Given the description of an element on the screen output the (x, y) to click on. 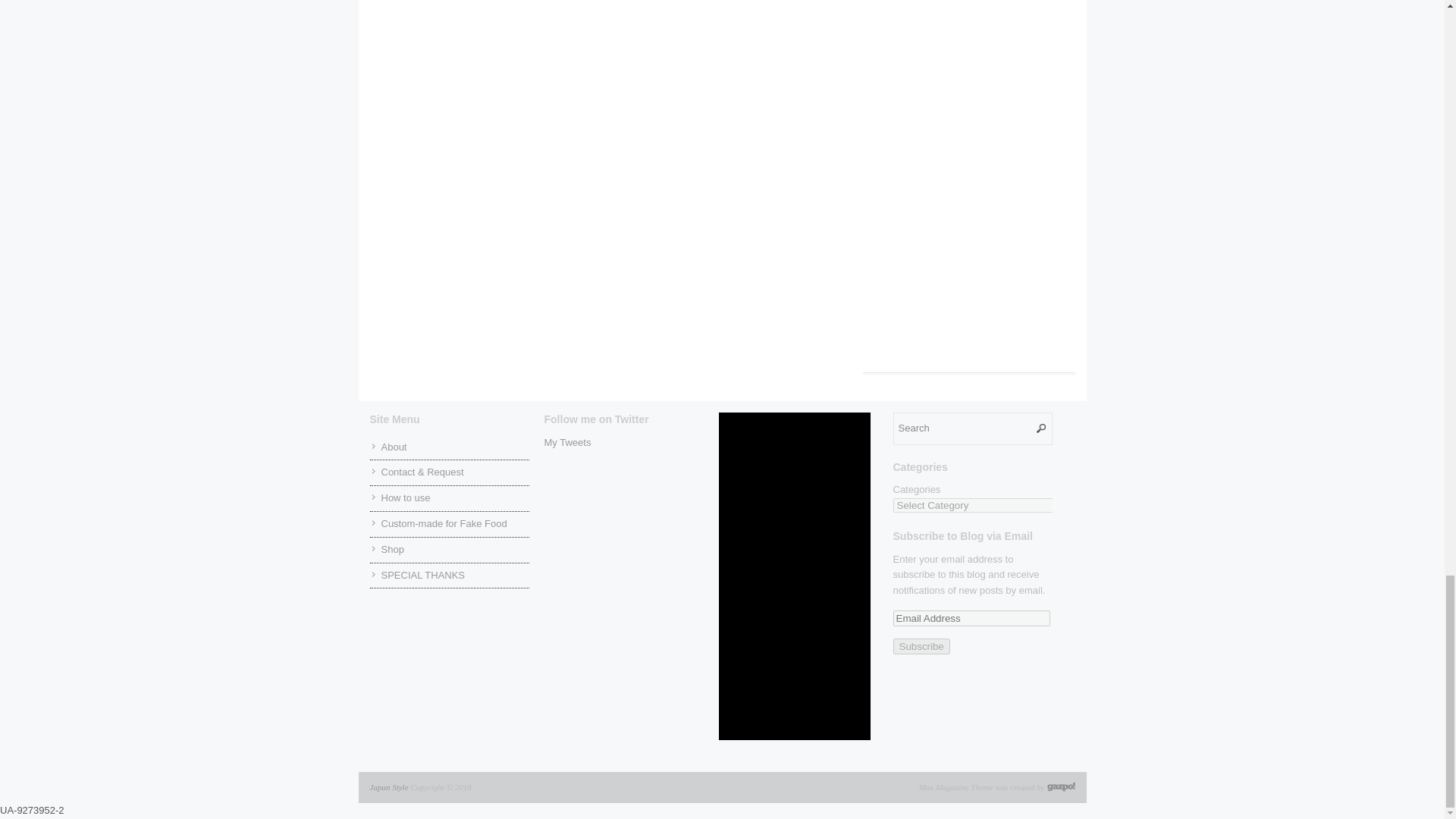
About (393, 446)
Search (972, 428)
Search (972, 428)
Subscribe (921, 646)
